Given the description of an element on the screen output the (x, y) to click on. 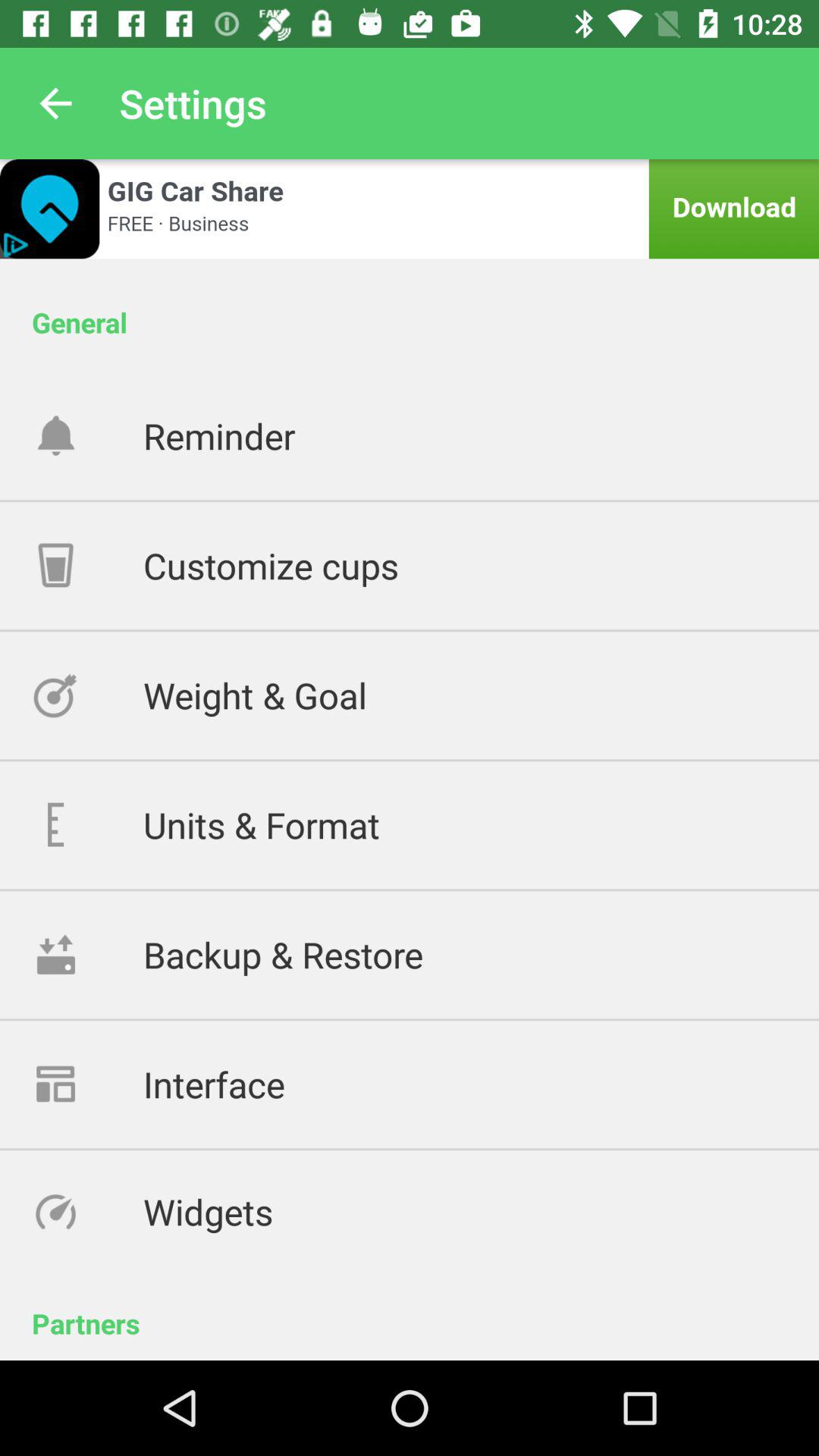
click on the icon beside widgets (87, 1211)
click on the bell symbol (87, 436)
click on the fifth icon from the top (87, 954)
select the icon on left to the button unitsformat on the web page (87, 824)
